Given the description of an element on the screen output the (x, y) to click on. 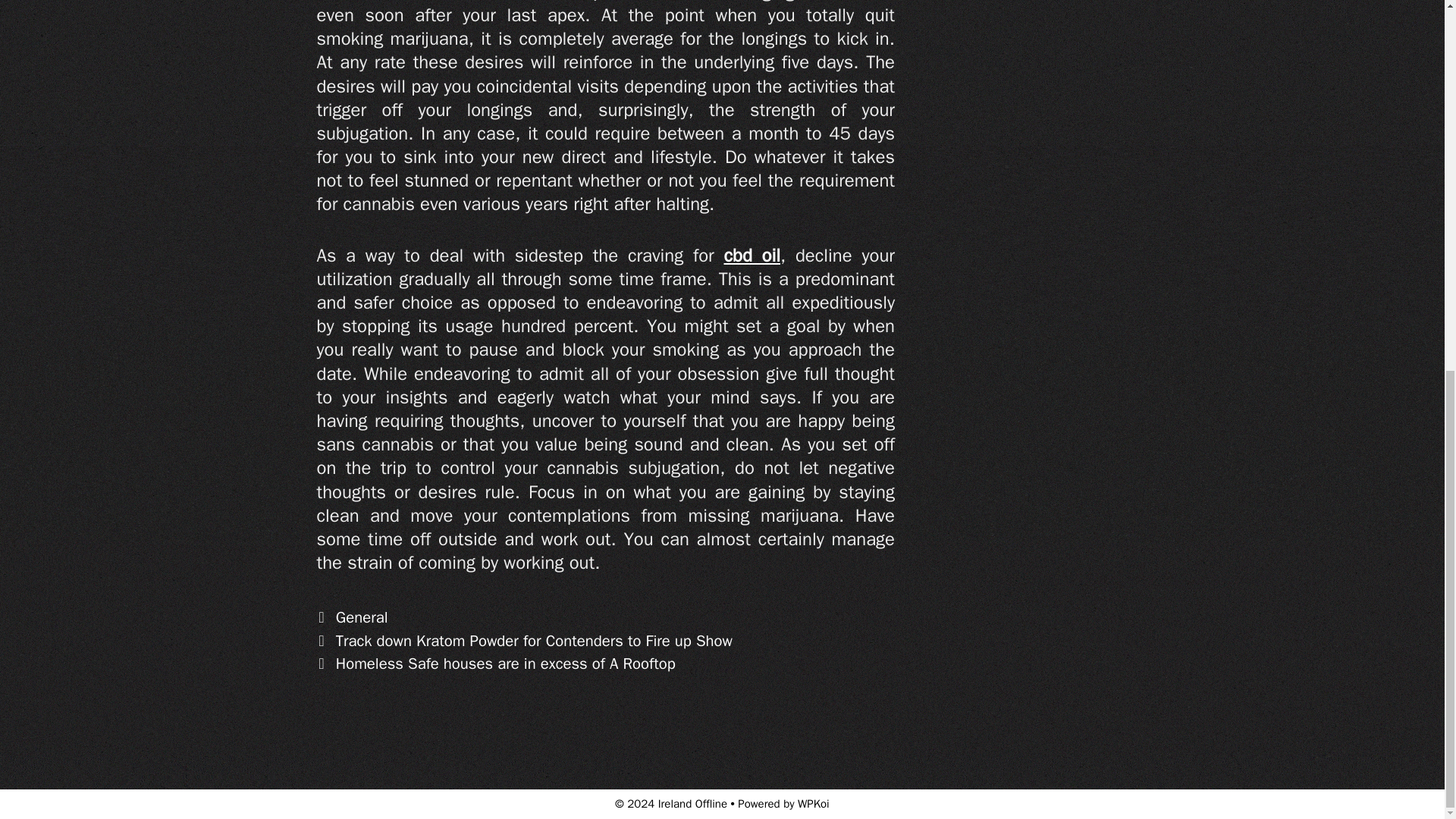
Homeless Safe houses are in excess of A Rooftop (505, 663)
General (362, 617)
Previous (525, 640)
Track down Kratom Powder for Contenders to Fire up Show (534, 640)
cbd oil (751, 255)
WPKoi (813, 803)
Next (496, 663)
